Given the description of an element on the screen output the (x, y) to click on. 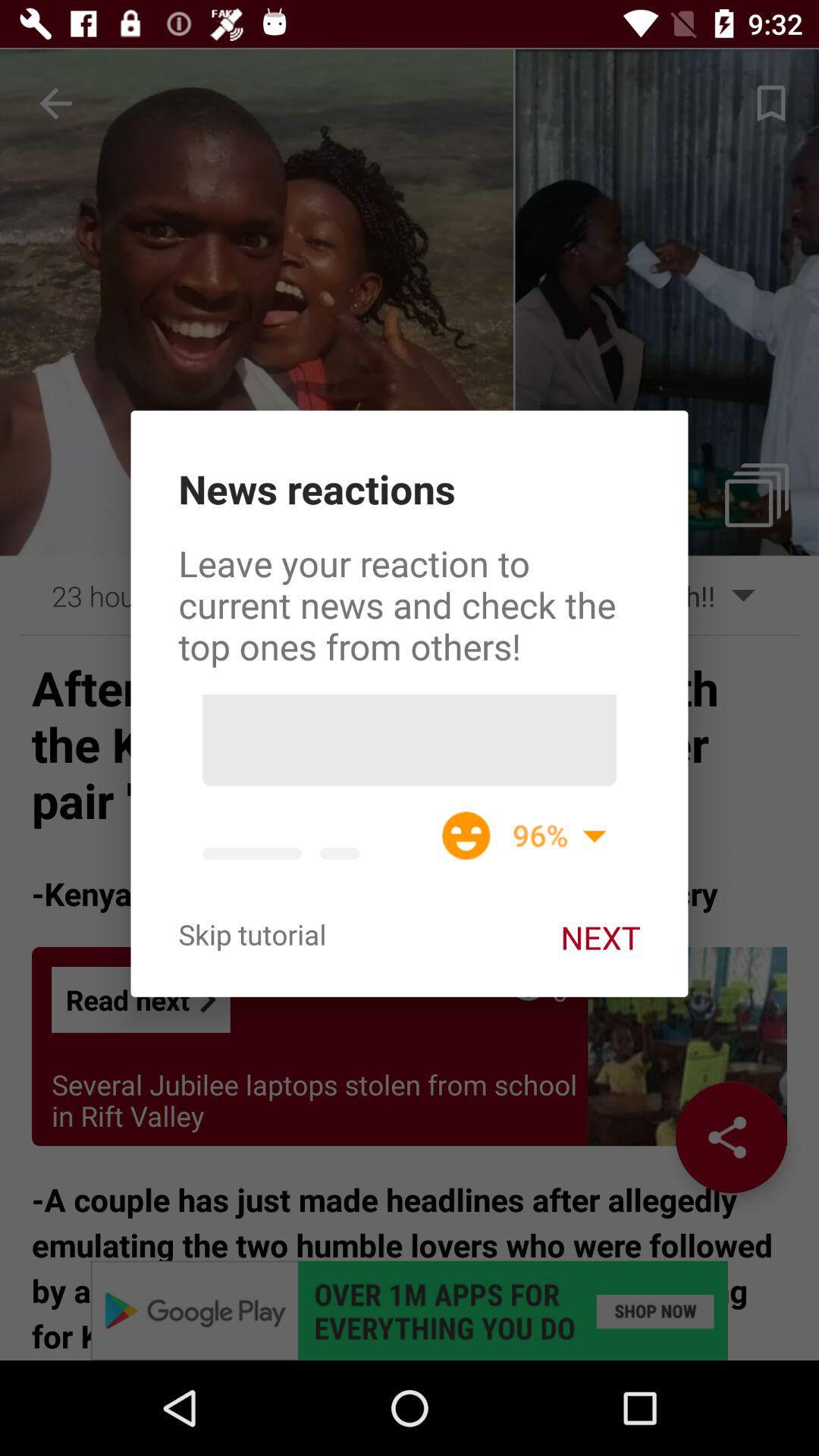
turn on the next item (600, 936)
